Given the description of an element on the screen output the (x, y) to click on. 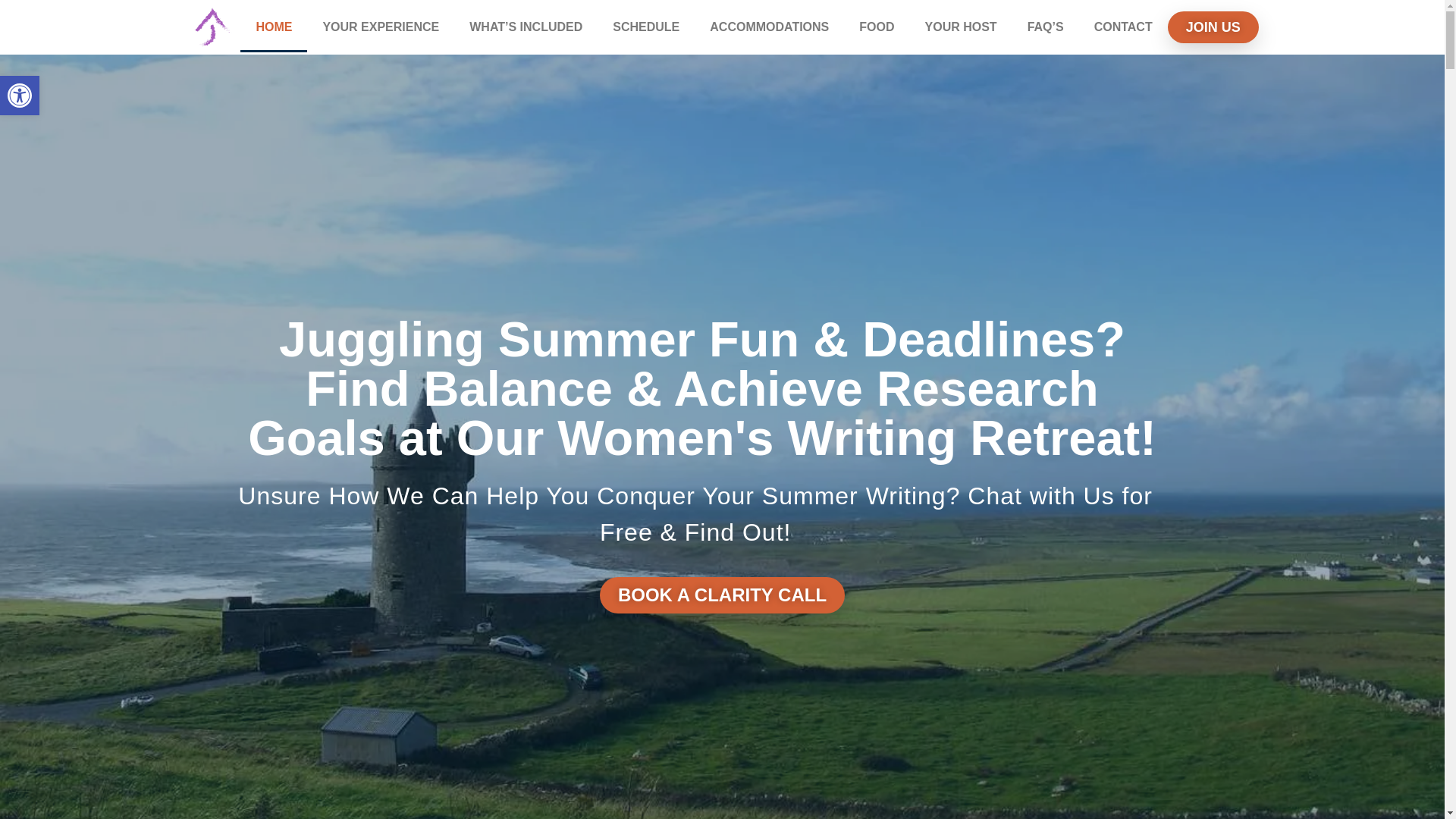
YOUR HOST (19, 95)
ACCOMMODATIONS (960, 27)
Accessibility Tools (769, 27)
JOIN US (19, 95)
HOME (1213, 27)
FOOD (273, 27)
CONTACT (876, 27)
SCHEDULE (1122, 27)
YOUR EXPERIENCE (645, 27)
Accessibility Tools (380, 27)
